Given the description of an element on the screen output the (x, y) to click on. 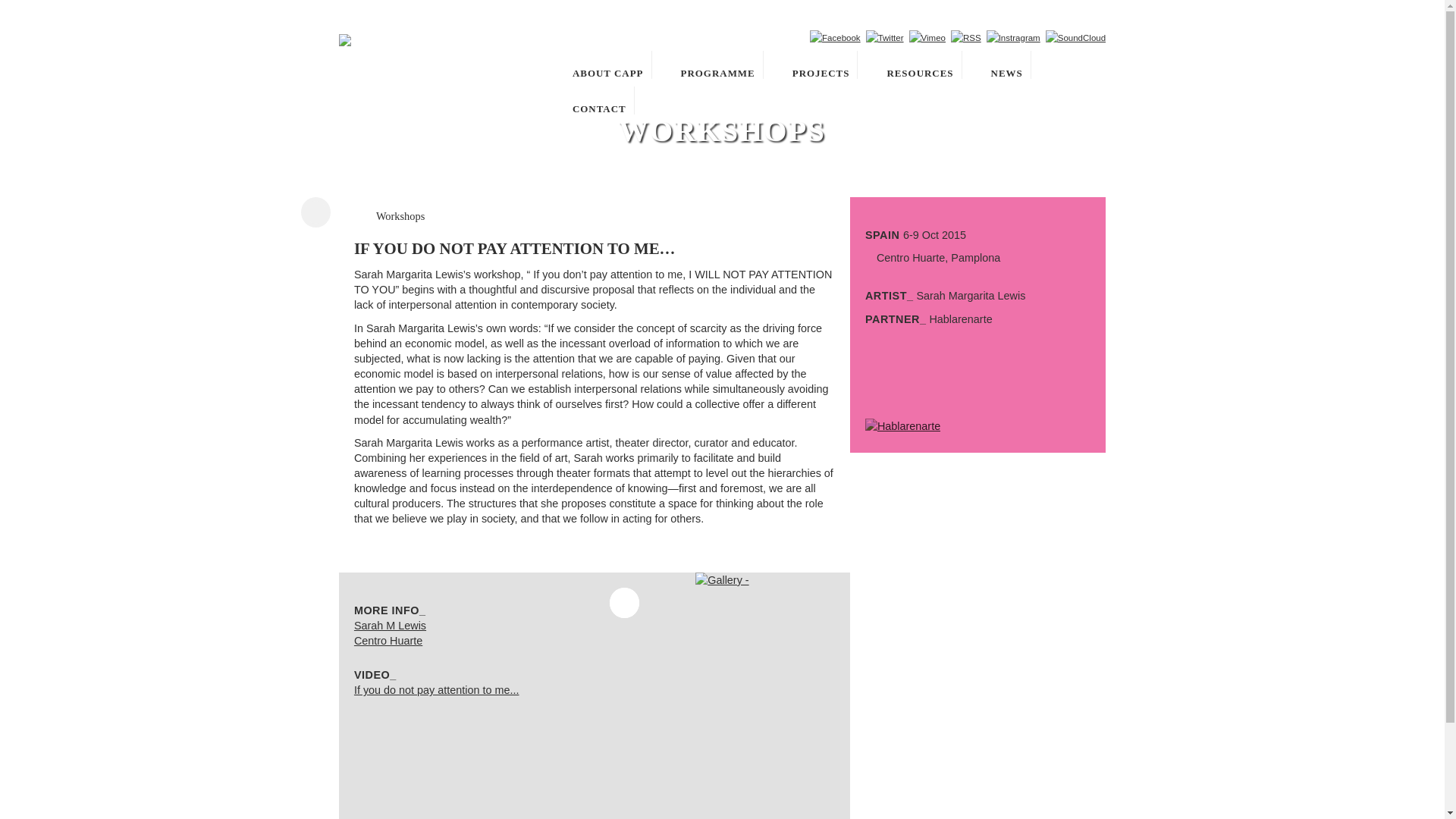
Sarah M Lewis (389, 625)
Search (793, 37)
PROJECTS (817, 64)
CAPP (437, 41)
Vimeo CAPP (926, 37)
Search (793, 37)
Twitter CAPP (885, 37)
ABOUT CAPP (603, 64)
NEWS (1002, 64)
Go Back (315, 212)
